Given the description of an element on the screen output the (x, y) to click on. 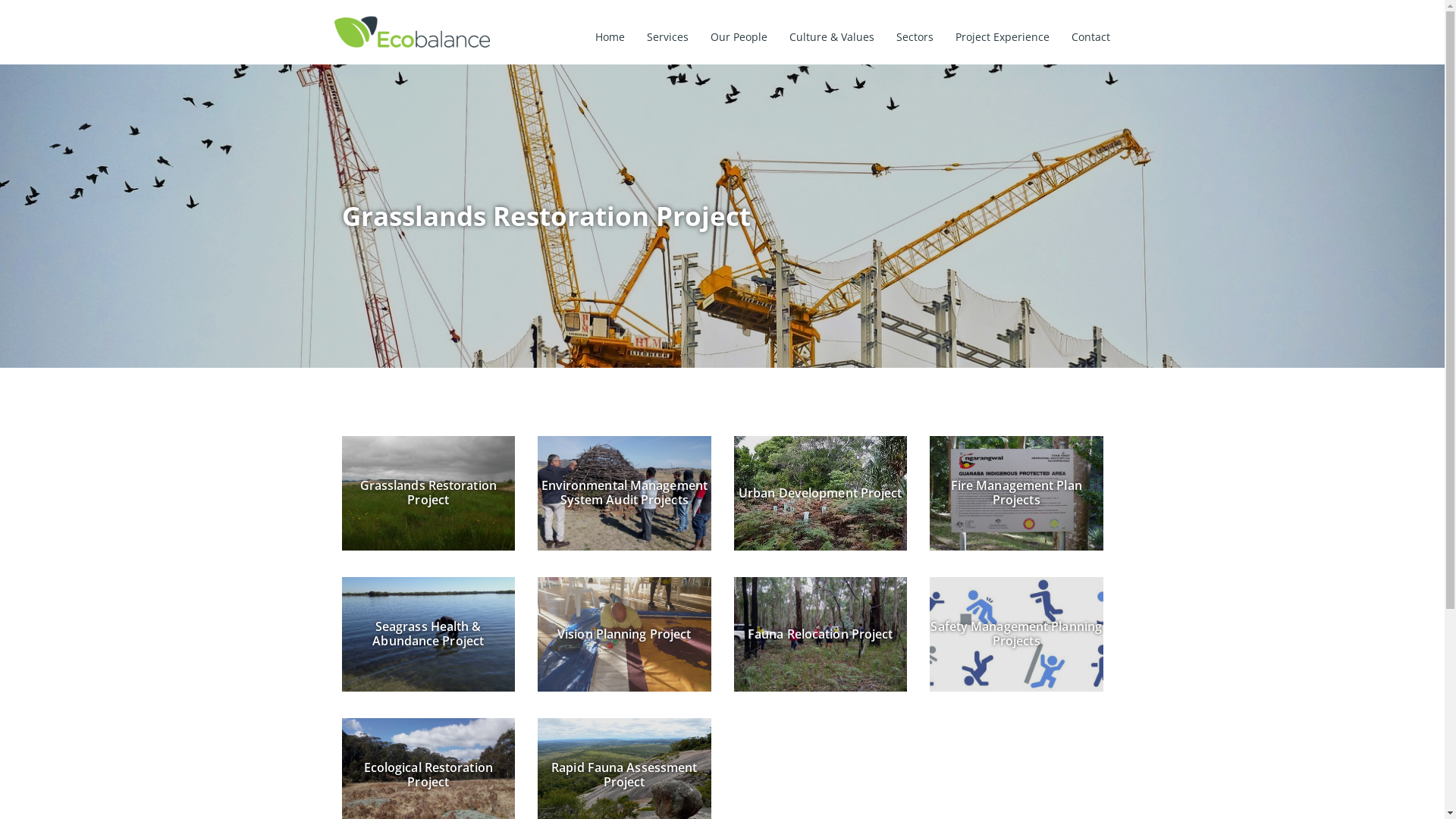
Safety Management Planning Projects Element type: text (1016, 634)
Vision Planning Project Element type: text (624, 634)
Home Element type: text (609, 36)
Environmental Management System Audit Projects Element type: text (624, 493)
Services Element type: text (667, 36)
Grasslands Restoration Project Element type: text (427, 493)
Culture & Values Element type: text (831, 36)
Sectors Element type: text (914, 36)
Fauna Relocation Project Element type: text (820, 634)
Fire Management Plan Projects Element type: text (1016, 493)
Project Experience Element type: text (1002, 36)
Our People Element type: text (738, 36)
Contact Element type: text (1090, 36)
Seagrass Health & Abundance Project Element type: text (427, 634)
Urban Development Project Element type: text (820, 493)
